Given the description of an element on the screen output the (x, y) to click on. 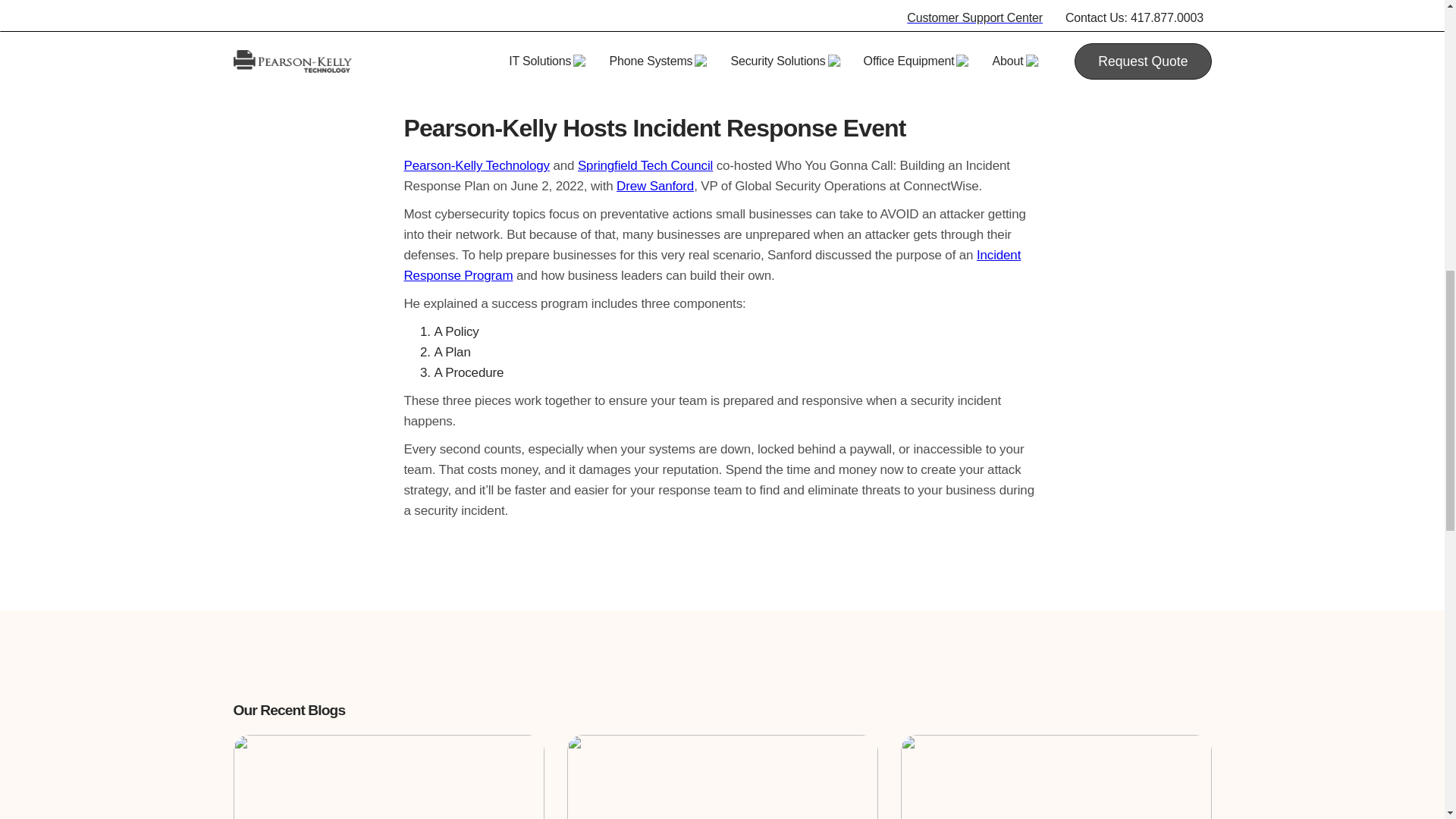
Who You Gonna Call: Building an Incident Response Plan (721, 46)
Drew Sanford (654, 186)
Pearson-Kelly Technology (475, 165)
Springfield Tech Council (645, 165)
Incident Response Program (711, 265)
